Given the description of an element on the screen output the (x, y) to click on. 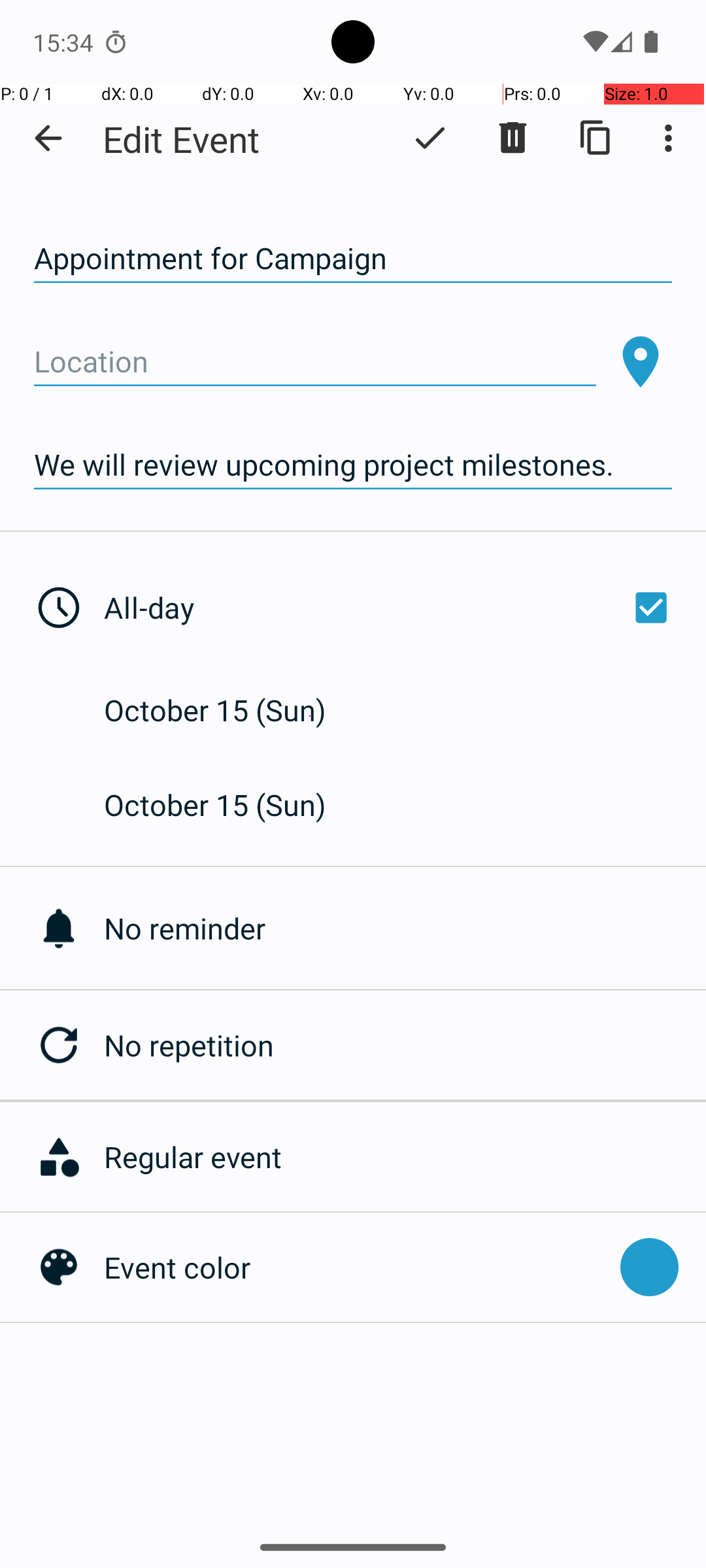
We will review upcoming project milestones. Element type: android.widget.EditText (352, 465)
